Given the description of an element on the screen output the (x, y) to click on. 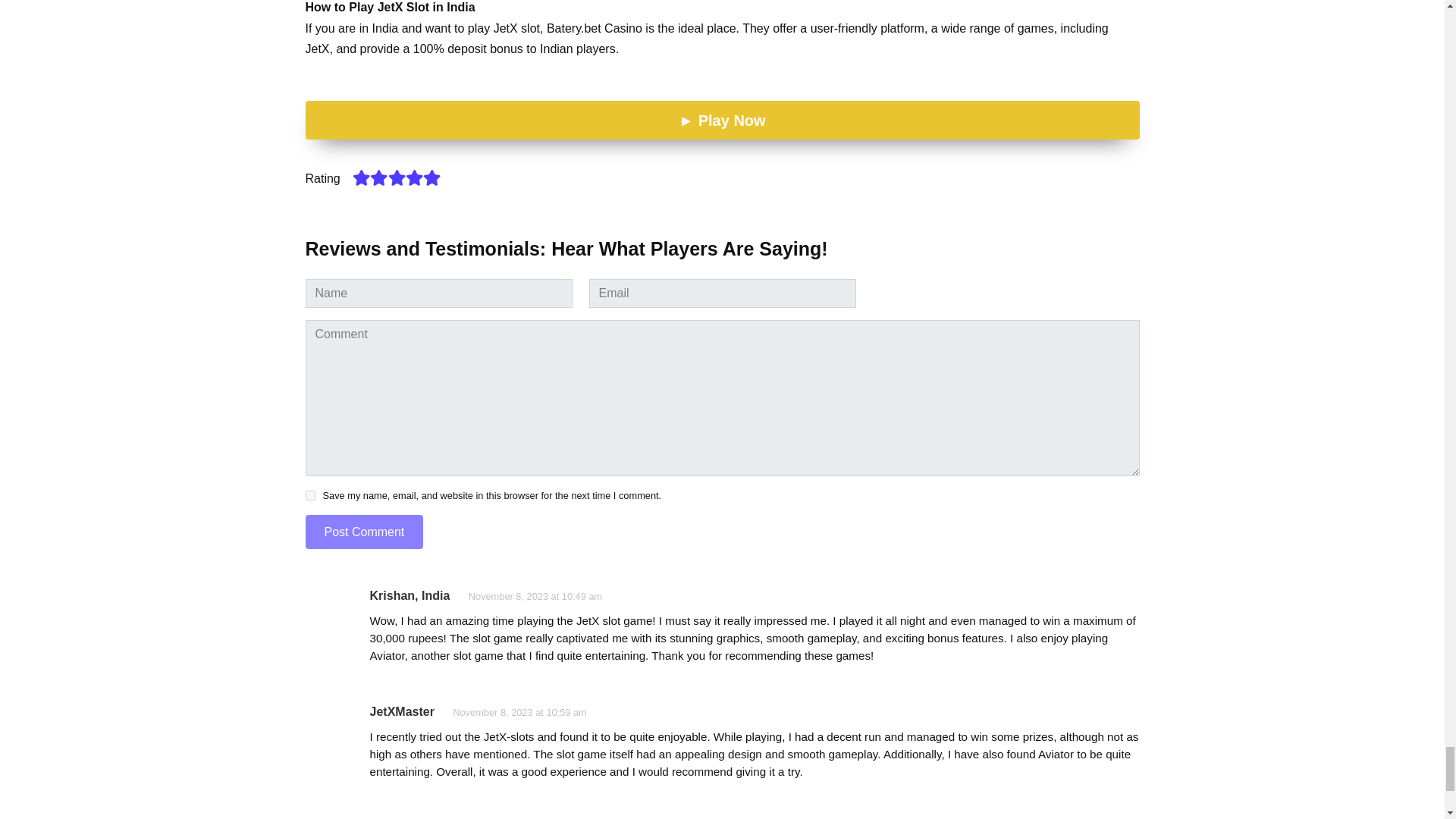
yes (309, 495)
Post Comment (363, 531)
